Given the description of an element on the screen output the (x, y) to click on. 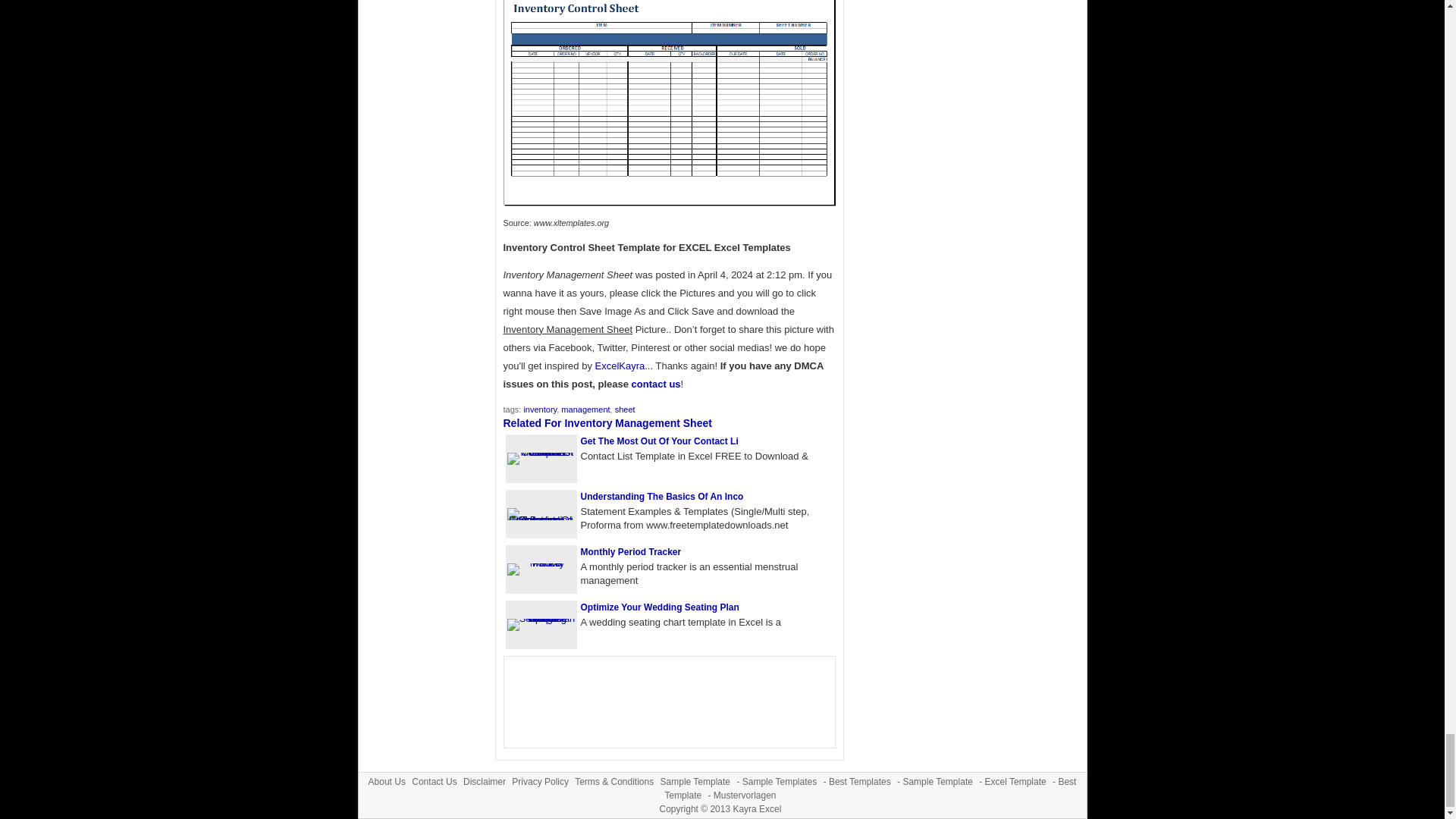
Understanding The Basics Of An Income Statement Template (662, 496)
Get The Most Out Of Your Contact Li (659, 440)
sheet (624, 409)
Monthly Period Tracker (630, 552)
Understanding The Basics Of An Income Statement Template (540, 519)
Optimize Your Wedding Seating Plan with Our Excel Template (659, 606)
Get The Most Out Of Your Contact List Template Excel In 2023 (659, 440)
Optimize Your Wedding Seating Plan with Our Excel Template (540, 618)
Get The Most Out Of Your Contact List Template Excel In 2023 (540, 451)
contact us (656, 383)
Optimize Your Wedding Seating Plan (659, 606)
Monthly Period Tracker (630, 552)
Understanding The Basics Of An Inco (662, 496)
ExcelKayra (619, 365)
management (585, 409)
